Given the description of an element on the screen output the (x, y) to click on. 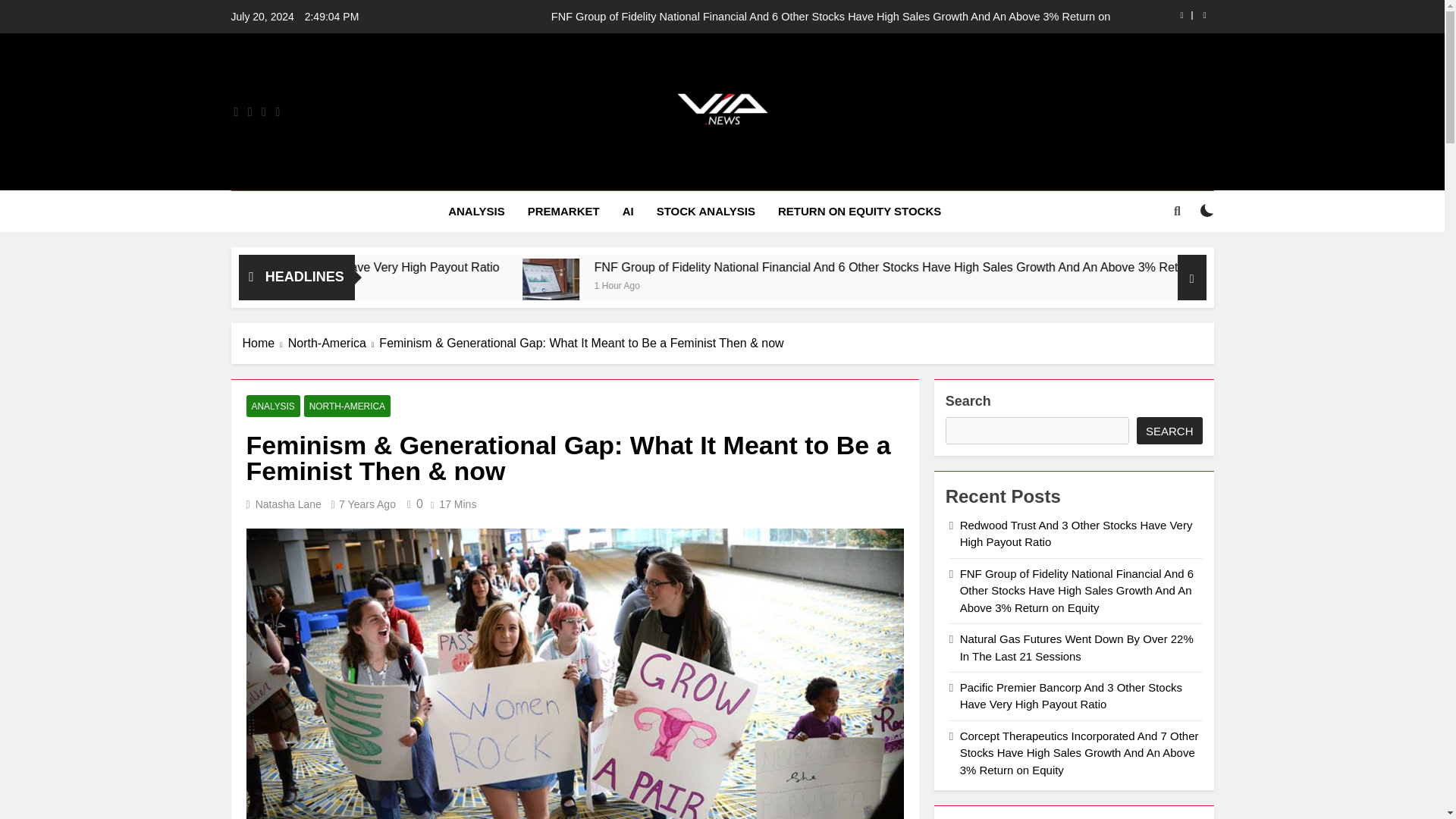
STOCK ANALYSIS (706, 210)
Redwood Trust And 3 Other Stocks Have Very High Payout Ratio (541, 267)
PREMARKET (563, 210)
ANALYSIS (475, 210)
on (1206, 210)
Redwood Trust And 3 Other Stocks Have Very High Payout Ratio (492, 267)
24 Mins Ago (388, 284)
RETURN ON EQUITY STOCKS (859, 210)
1 Hour Ago (824, 284)
